Given the description of an element on the screen output the (x, y) to click on. 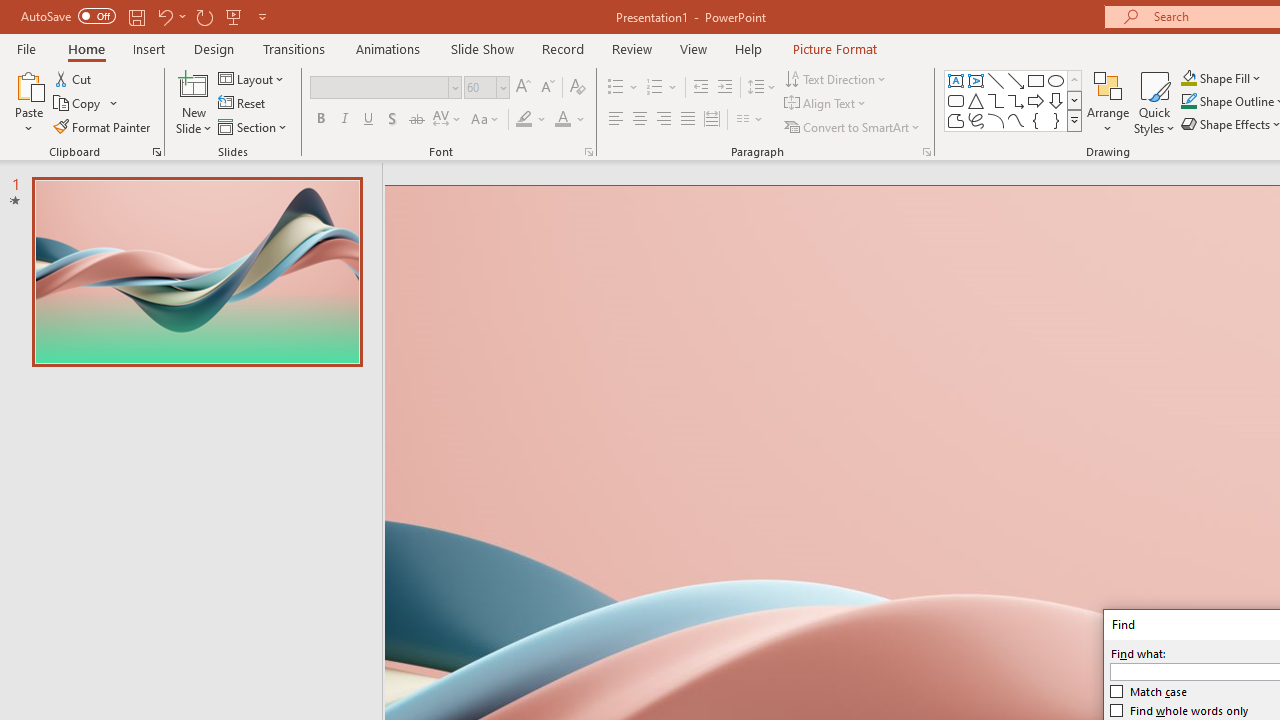
AutomationID: ShapesInsertGallery (1014, 100)
Decrease Font Size (547, 87)
Decrease Indent (700, 87)
Rectangle: Rounded Corners (955, 100)
Find whole words only (1179, 710)
Line Arrow (1016, 80)
Line (995, 80)
Line Spacing (762, 87)
Quick Styles (1154, 102)
